Given the description of an element on the screen output the (x, y) to click on. 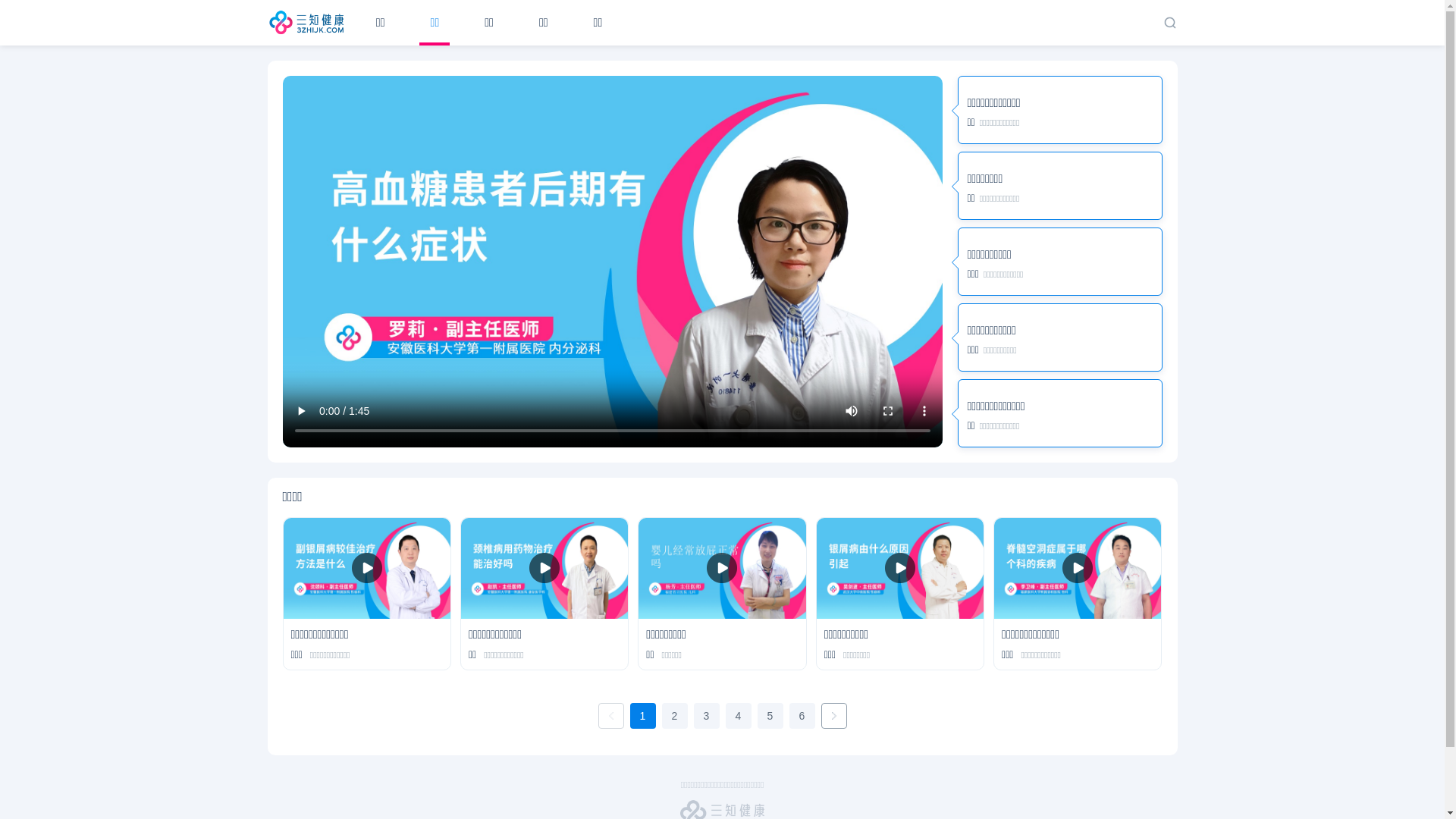
5 Element type: text (769, 715)
1 Element type: text (642, 715)
3 Element type: text (705, 715)
2 Element type: text (674, 715)
4 Element type: text (737, 715)
6 Element type: text (801, 715)
